Given the description of an element on the screen output the (x, y) to click on. 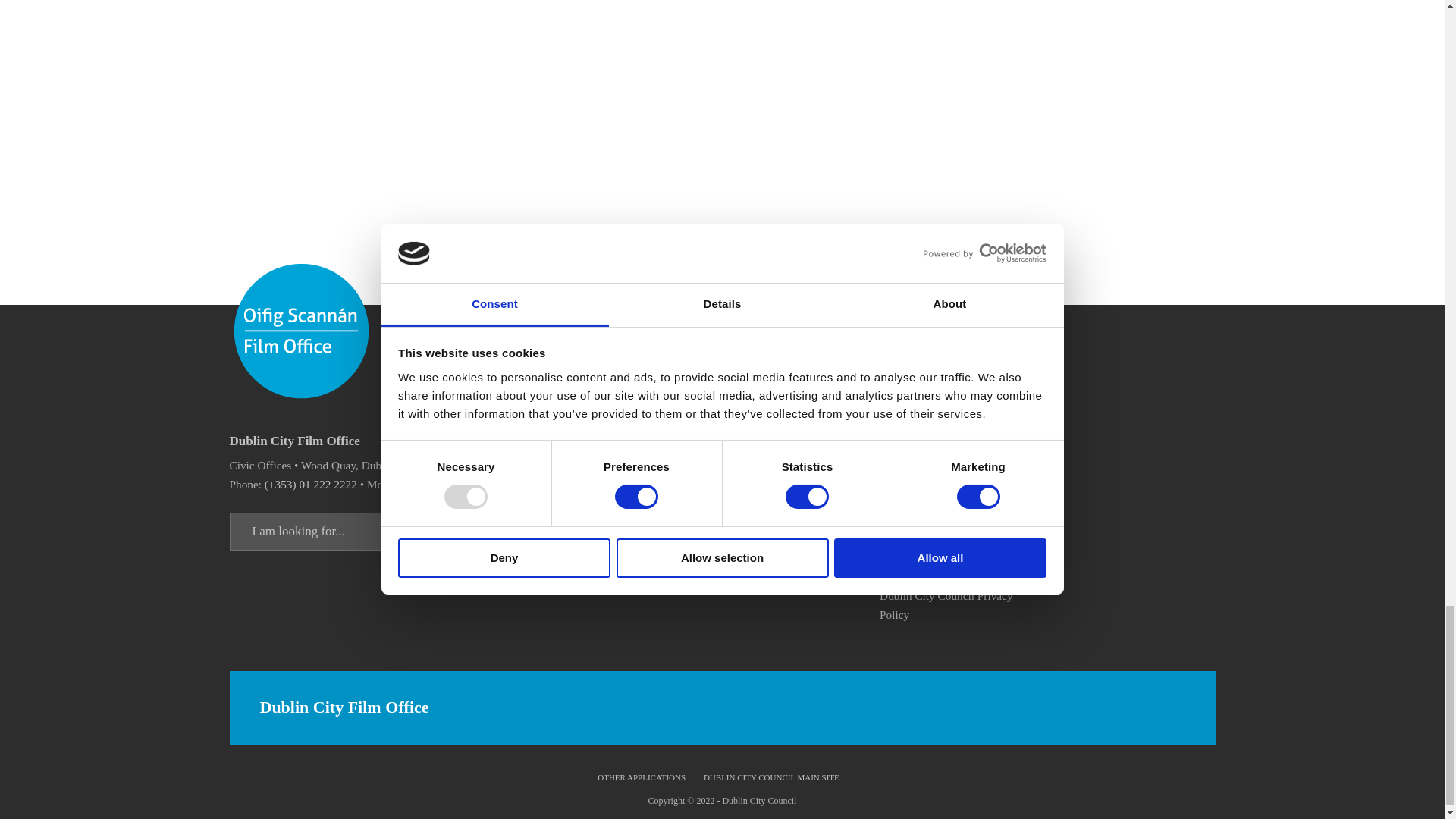
I am looking for... (446, 531)
